Given the description of an element on the screen output the (x, y) to click on. 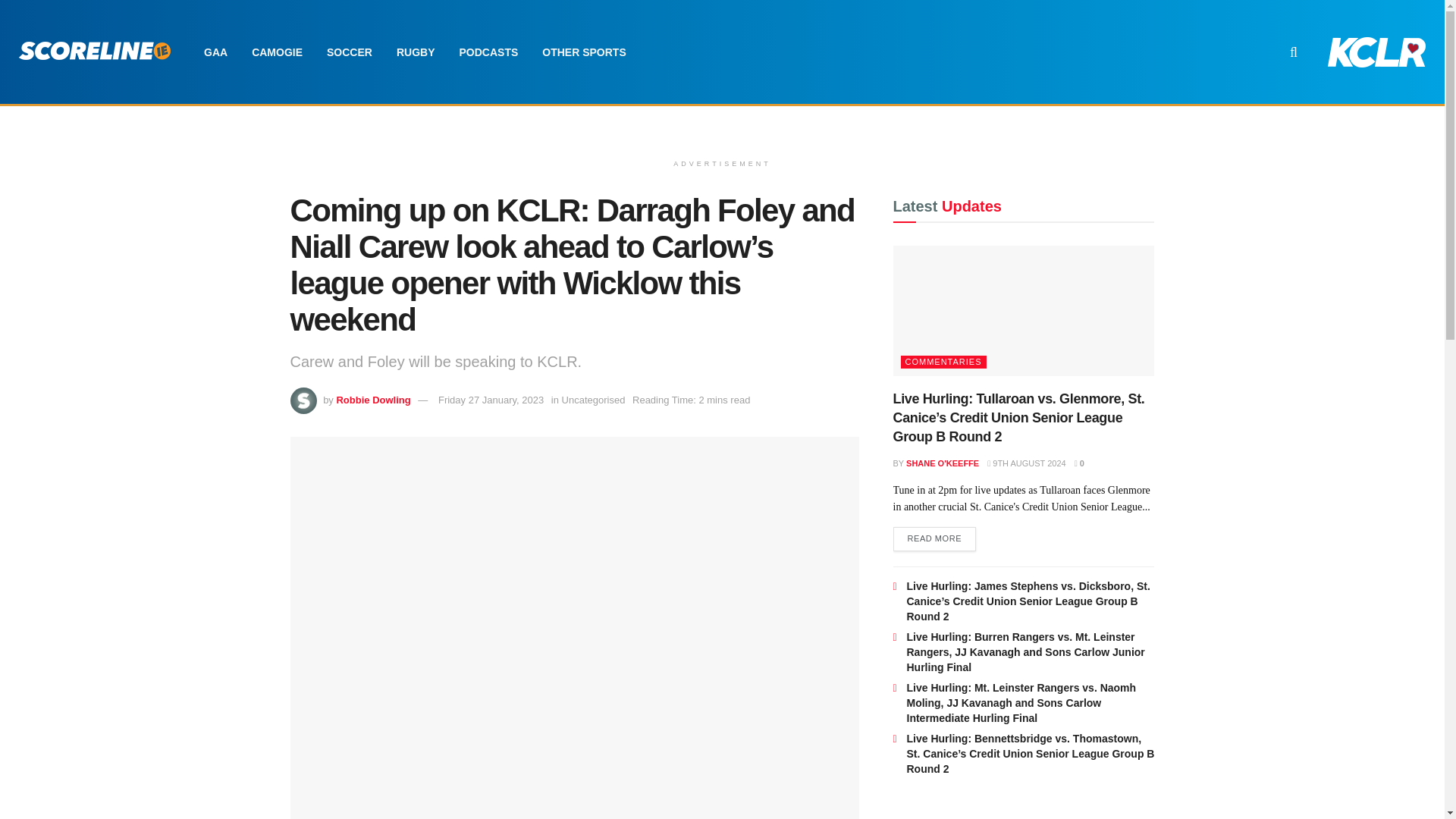
OTHER SPORTS (583, 52)
Friday 27 January, 2023 (490, 399)
SHANE O'KEEFFE (941, 462)
COMMENTARIES (944, 361)
PODCASTS (487, 52)
SOCCER (349, 52)
9TH AUGUST 2024 (1026, 462)
